Given the description of an element on the screen output the (x, y) to click on. 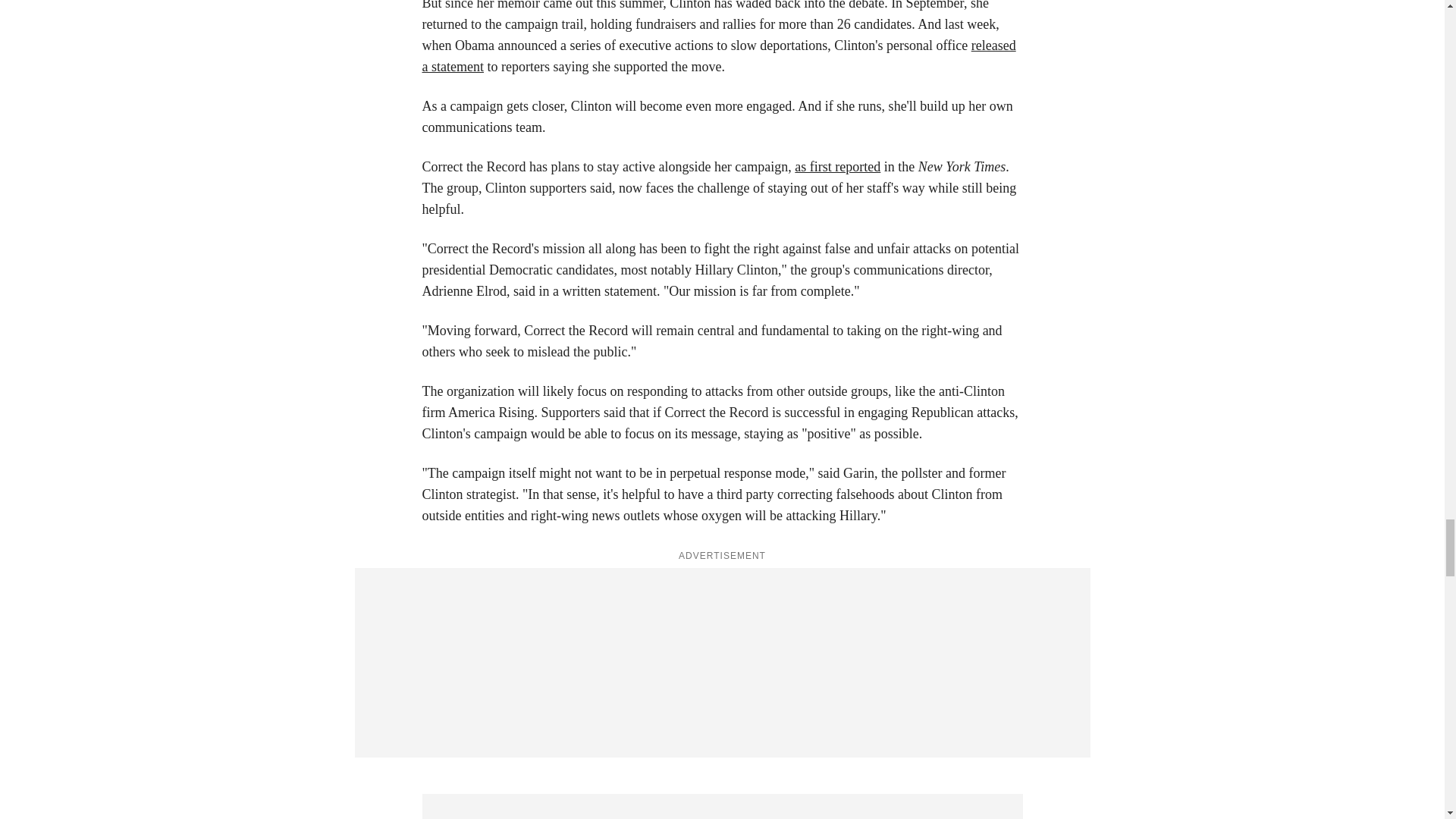
released a statement (718, 55)
as first reported (837, 166)
